Given the description of an element on the screen output the (x, y) to click on. 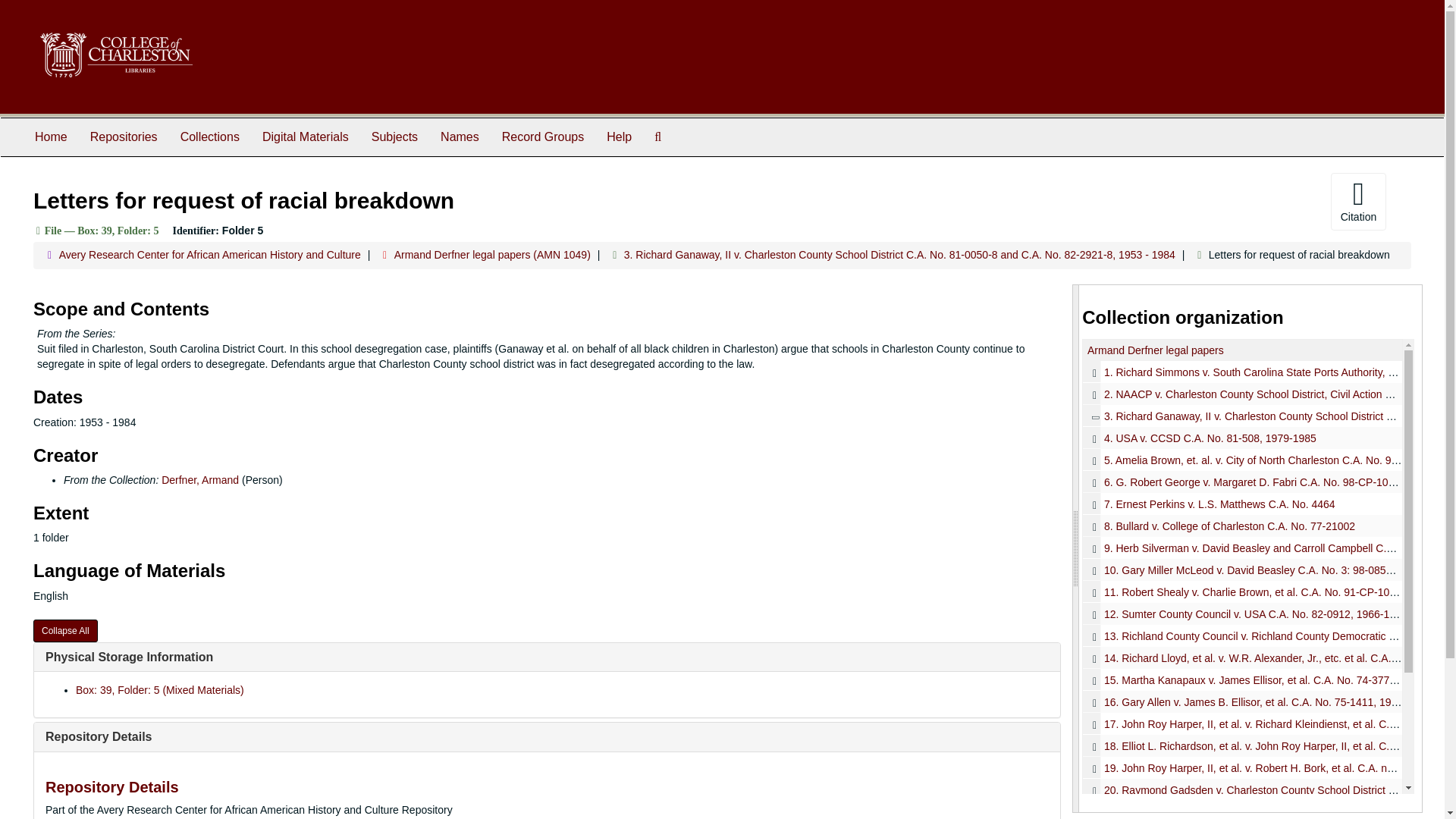
Physical Storage Information (128, 656)
4. USA v. CCSD C.A. No. 81-508 (1242, 437)
Repositories (123, 136)
Collapse All (65, 630)
Home (50, 136)
Repository Details (98, 736)
Page Actions (1130, 201)
4. USA v. CCSD C.A. No. 81-508, 1979-1985 (1209, 438)
Subjects (394, 136)
8. Bullard v. College of Charleston C.A. No. 77-21002 (1242, 526)
